Given the description of an element on the screen output the (x, y) to click on. 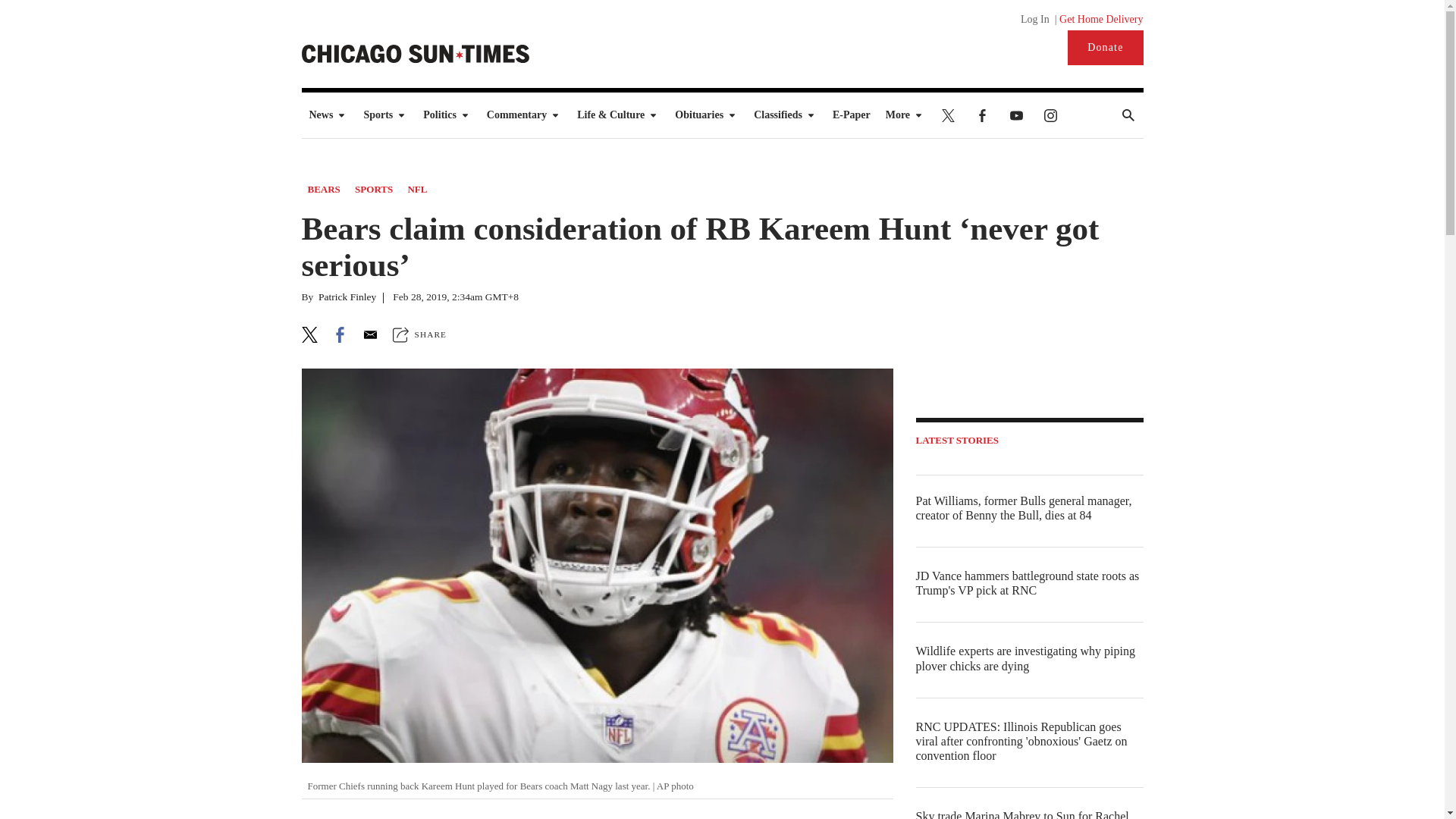
Donate (1104, 47)
Get Home Delivery (1100, 19)
